Given the description of an element on the screen output the (x, y) to click on. 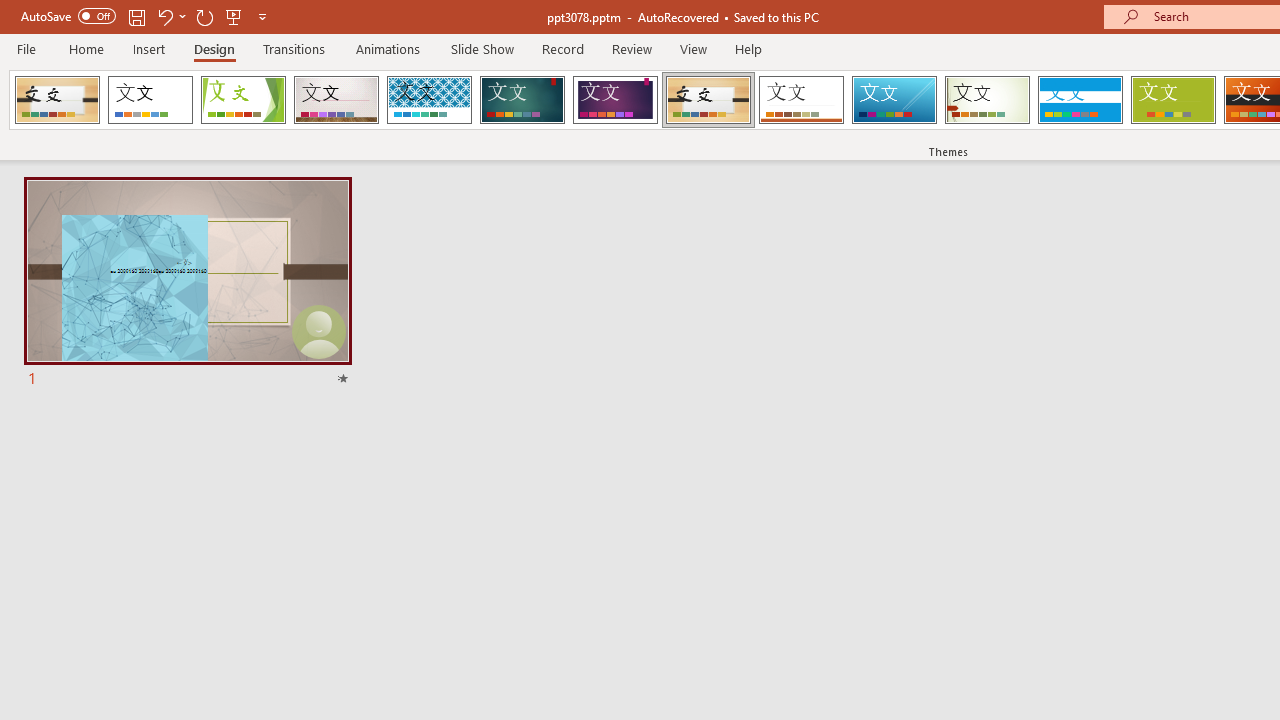
Retrospect (801, 100)
Ion (522, 100)
Gallery (336, 100)
Office Theme (150, 100)
Wisp (987, 100)
